Given the description of an element on the screen output the (x, y) to click on. 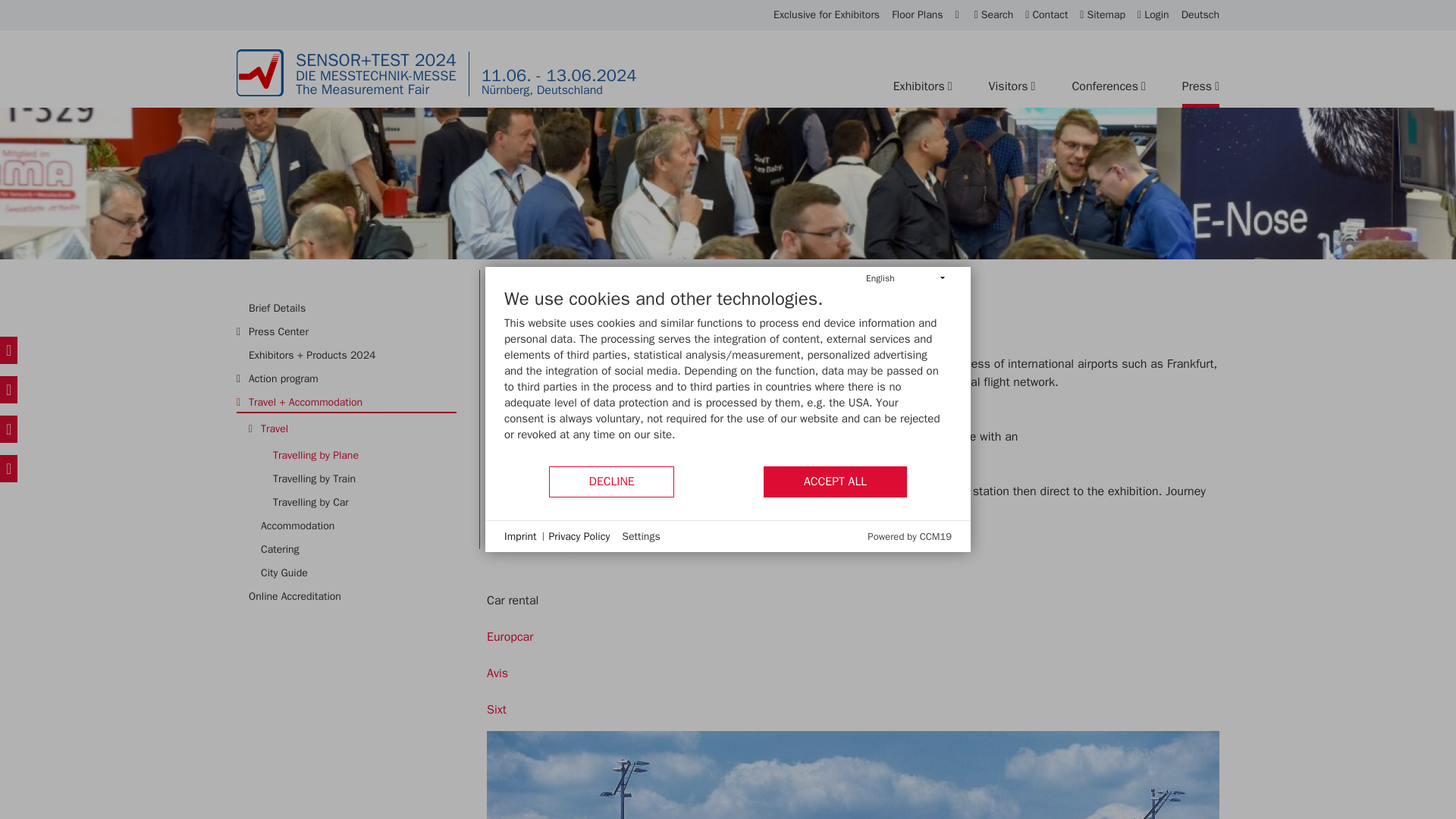
Exclusive for Exhibitors (826, 15)
Floor Plans 2024 (916, 15)
Sitemap (1102, 15)
Exclusive for Exhibitors (826, 15)
Floor Plans (916, 15)
Search (993, 15)
Exhibitors (922, 86)
Contact (1046, 15)
Deutsch (1200, 15)
Exhibitors (922, 86)
Sitemap (1102, 15)
Login (1153, 15)
Contact (1046, 15)
Search (993, 15)
